Given the description of an element on the screen output the (x, y) to click on. 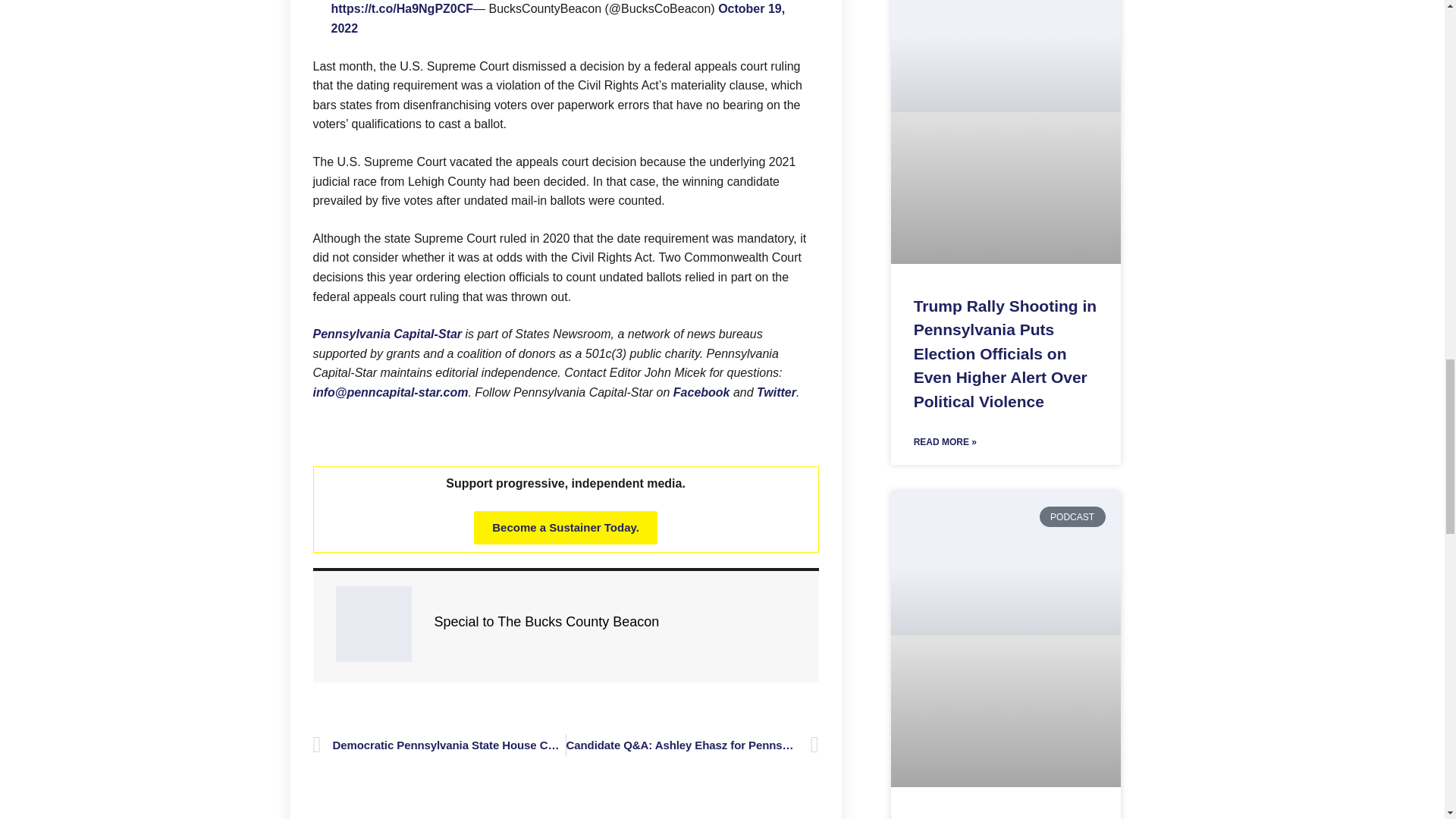
Become a Sustainer Today. (566, 527)
October 19, 2022 (557, 18)
Twitter (776, 391)
Pennsylvania Capital-Star (387, 333)
Facebook (701, 391)
